Given the description of an element on the screen output the (x, y) to click on. 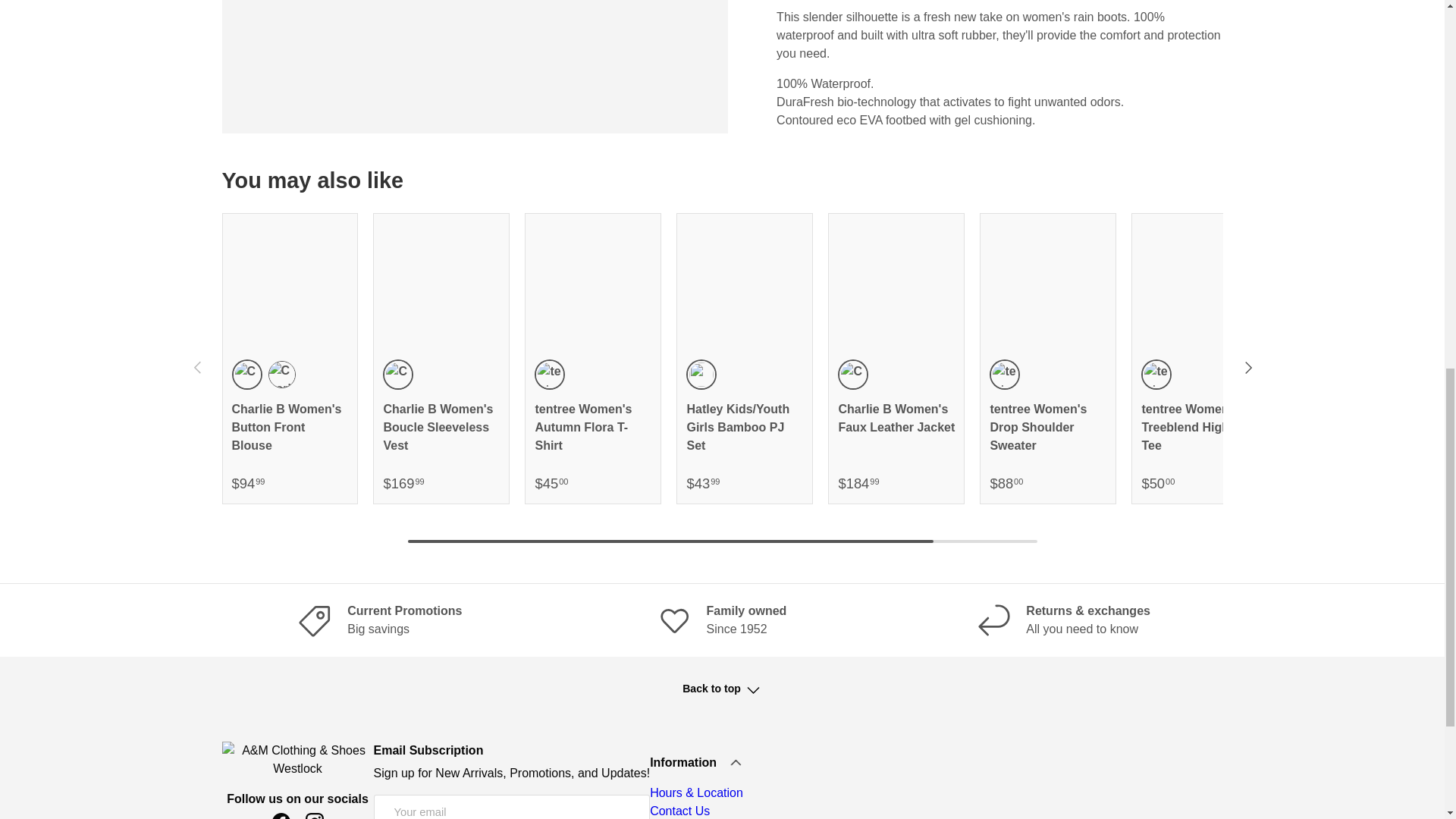
METEORITE BLACK (1156, 374)
TRUFFLE (853, 374)
Light Pink (700, 374)
Mineral (549, 374)
Eden (246, 374)
Terracotta (398, 374)
